Given the description of an element on the screen output the (x, y) to click on. 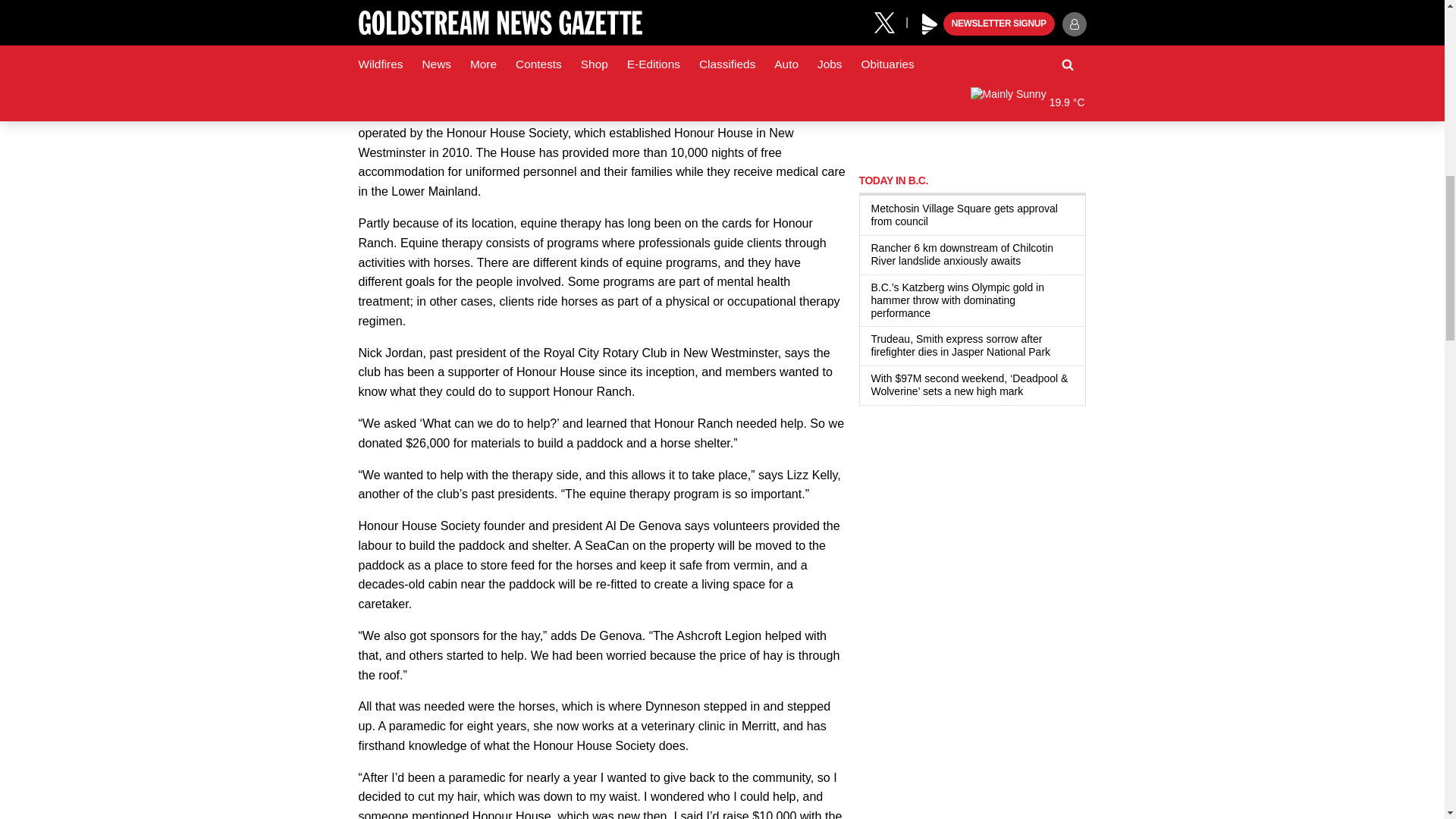
Has a gallery (1029, 261)
